Given the description of an element on the screen output the (x, y) to click on. 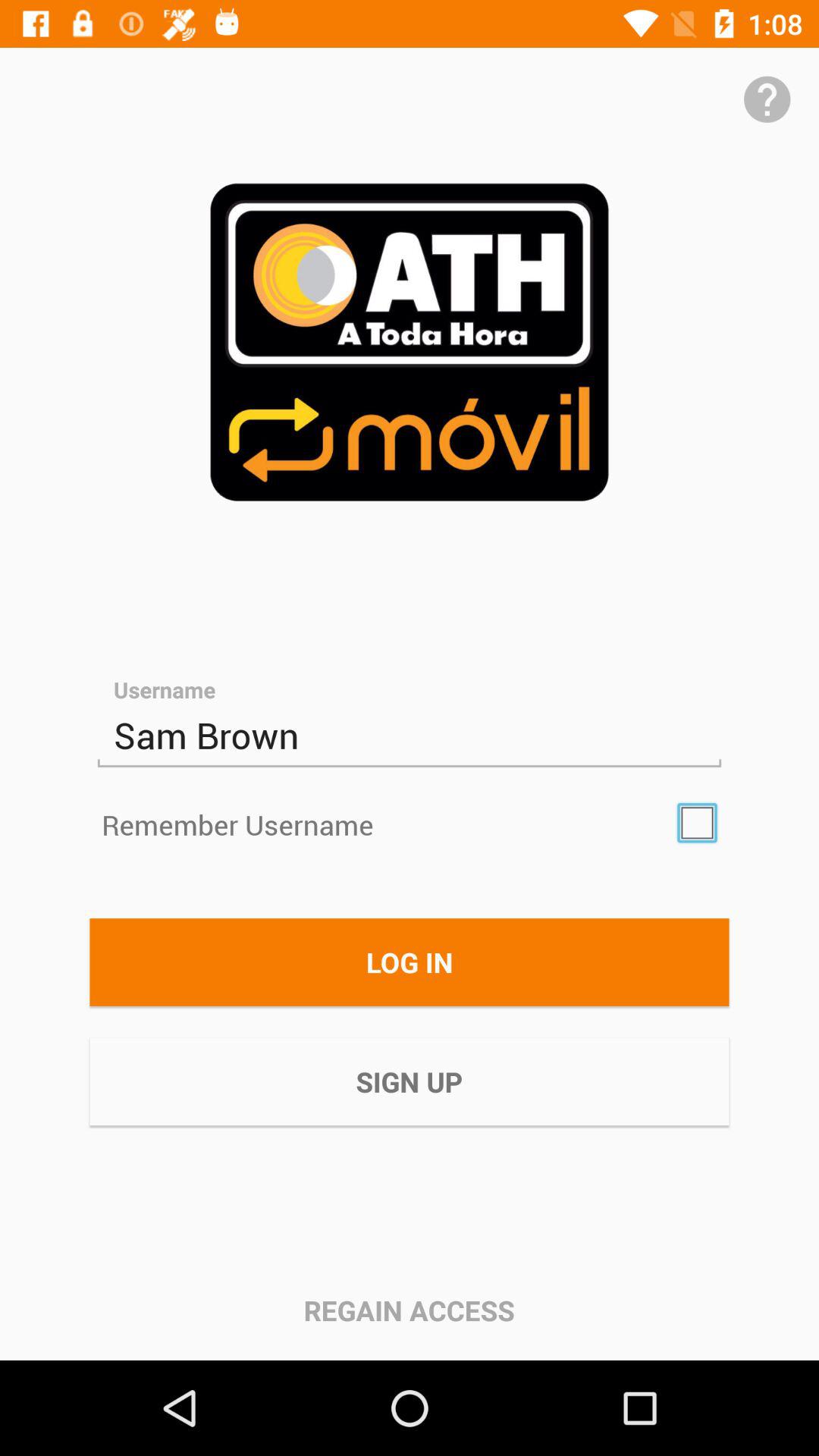
choose item above the sign up item (409, 962)
